Given the description of an element on the screen output the (x, y) to click on. 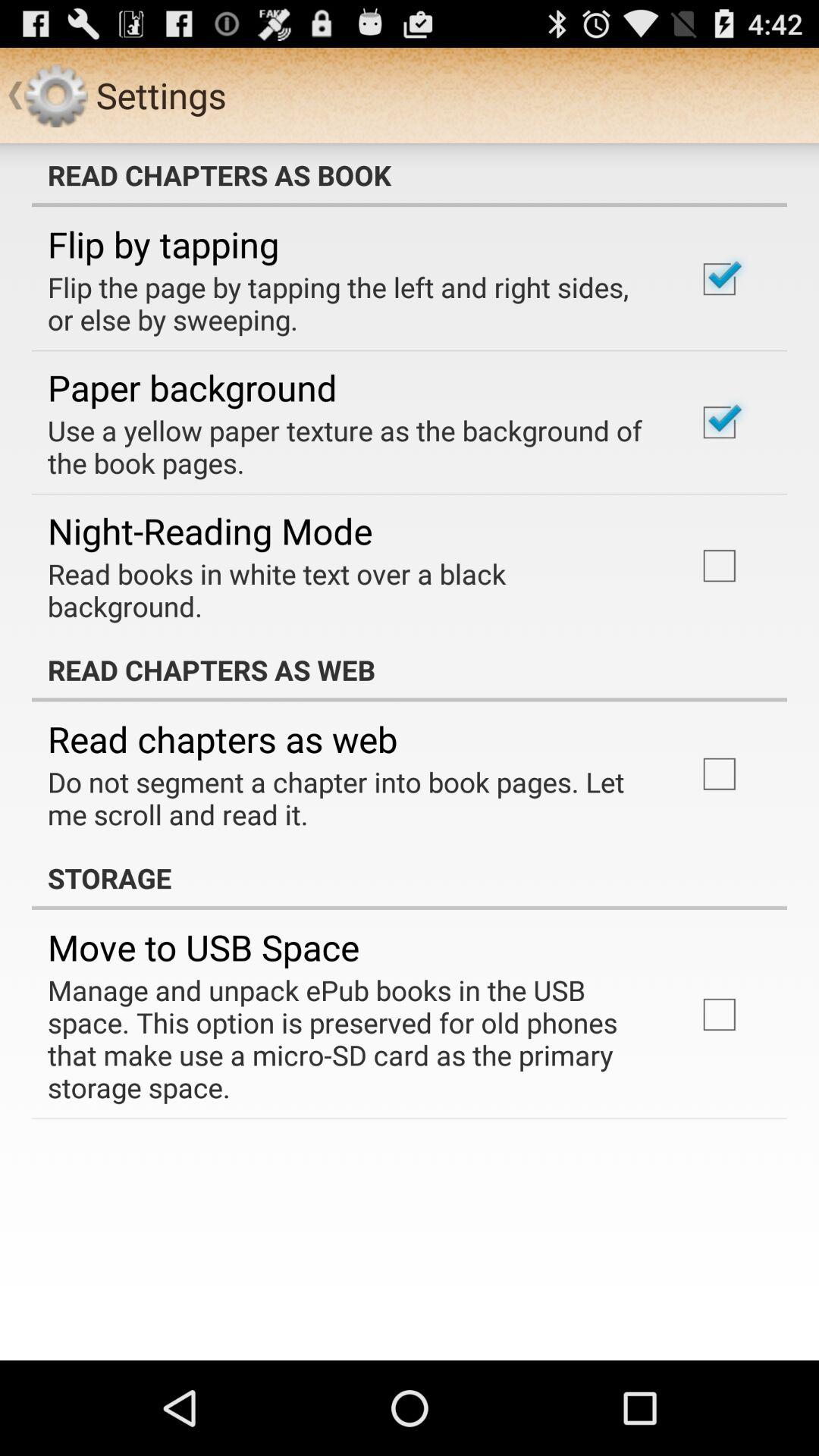
click move to usb item (203, 947)
